Given the description of an element on the screen output the (x, y) to click on. 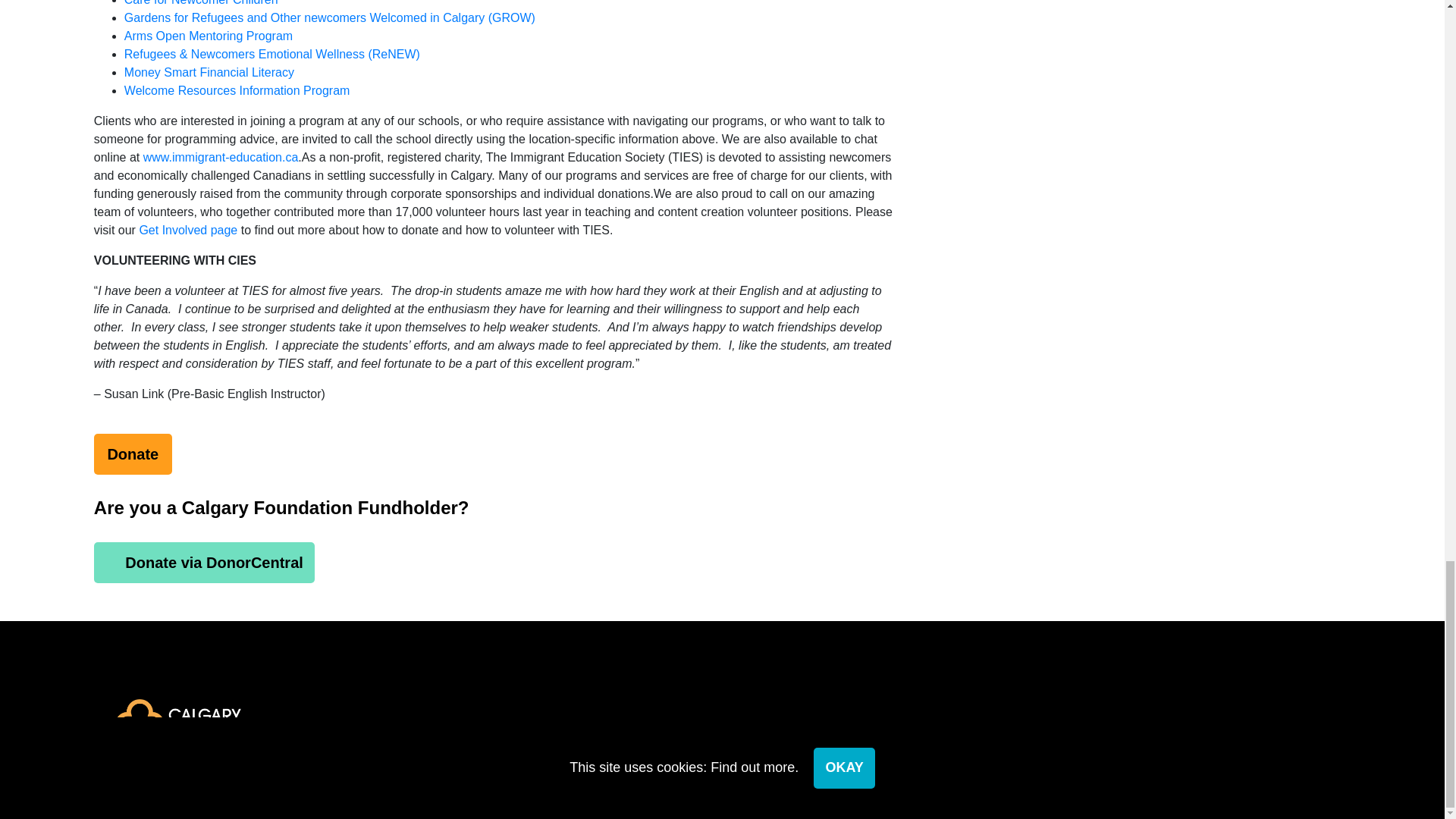
Money Smart Financial Literacy (208, 72)
Care for Newcomer Children (200, 2)
Arms Open Mentoring Program (207, 35)
Welcome Resources Information Program (236, 90)
